Given the description of an element on the screen output the (x, y) to click on. 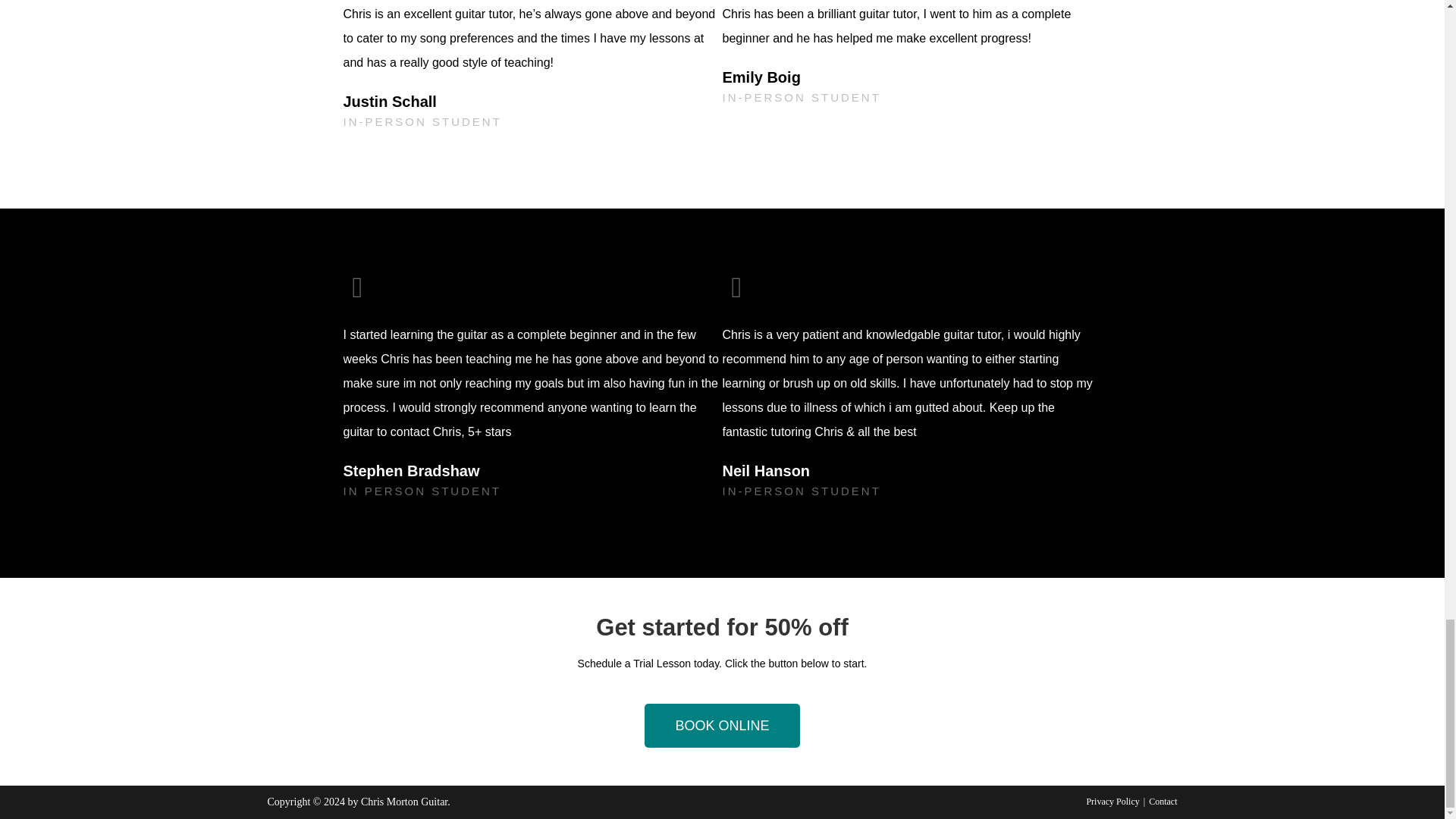
IN PERSON STUDENT (421, 491)
BOOK ONLINE (722, 725)
Stephen Bradshaw (421, 470)
Privacy Policy (1112, 801)
Contact (1162, 801)
